Given the description of an element on the screen output the (x, y) to click on. 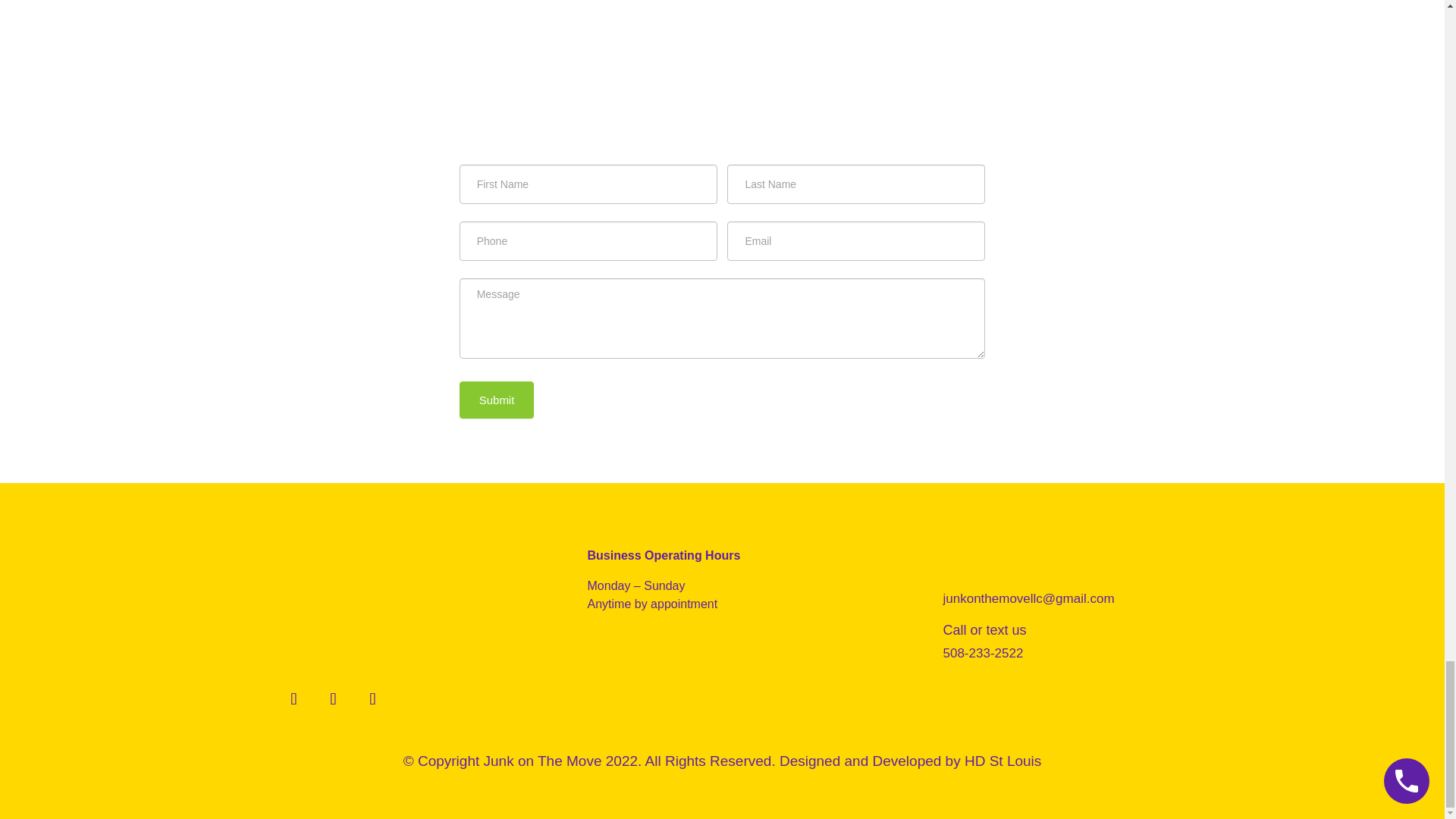
Follow on Instagram (333, 698)
508-233-2522 (983, 653)
Submit (497, 399)
Call or text us (984, 630)
Follow on TikTok (373, 698)
Follow on Facebook (294, 698)
HD St Louis (1002, 760)
